Given the description of an element on the screen output the (x, y) to click on. 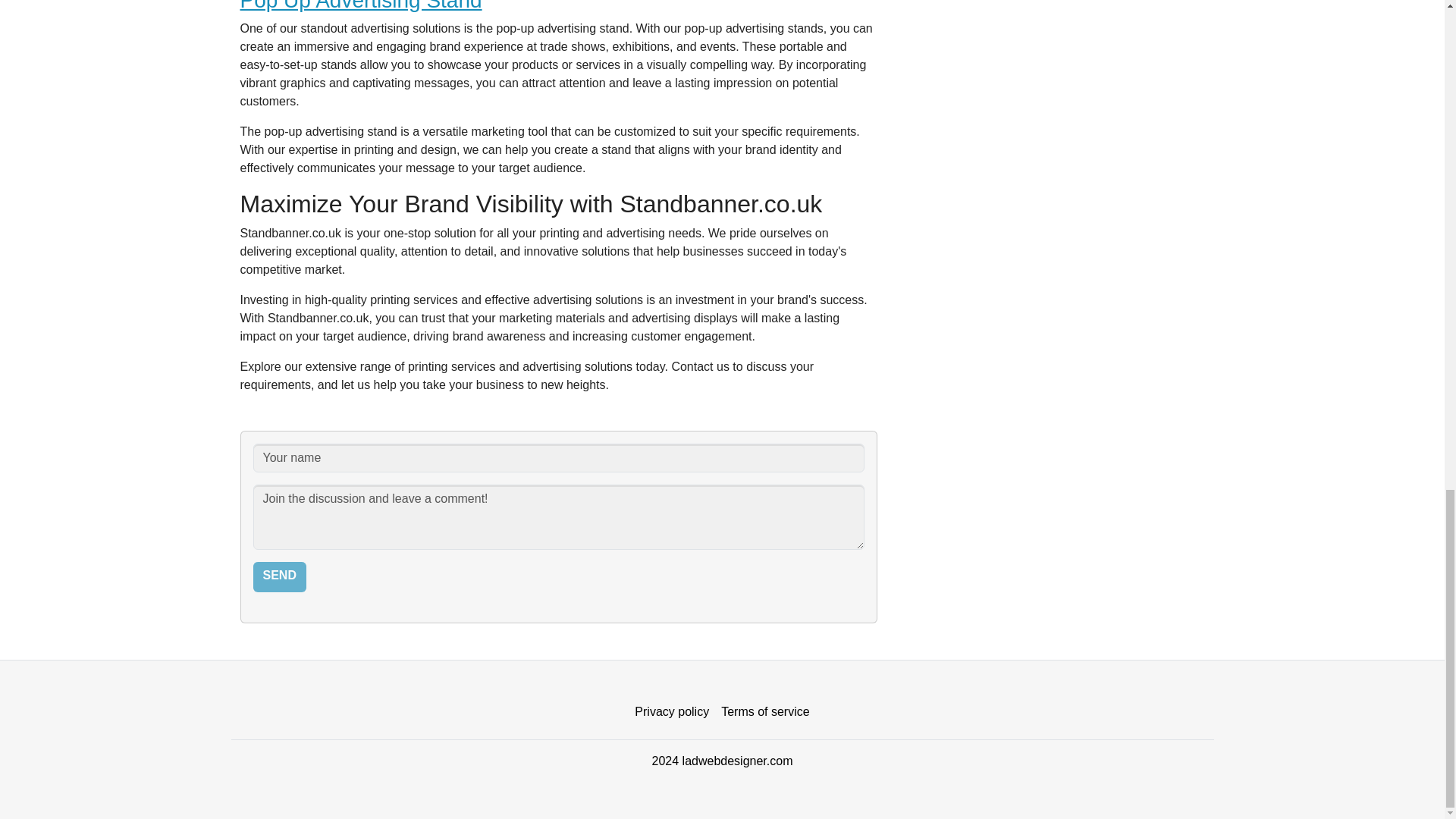
Send (279, 576)
Privacy policy (671, 711)
Send (279, 576)
Pop Up Advertising Stand (360, 6)
Terms of service (764, 711)
